Given the description of an element on the screen output the (x, y) to click on. 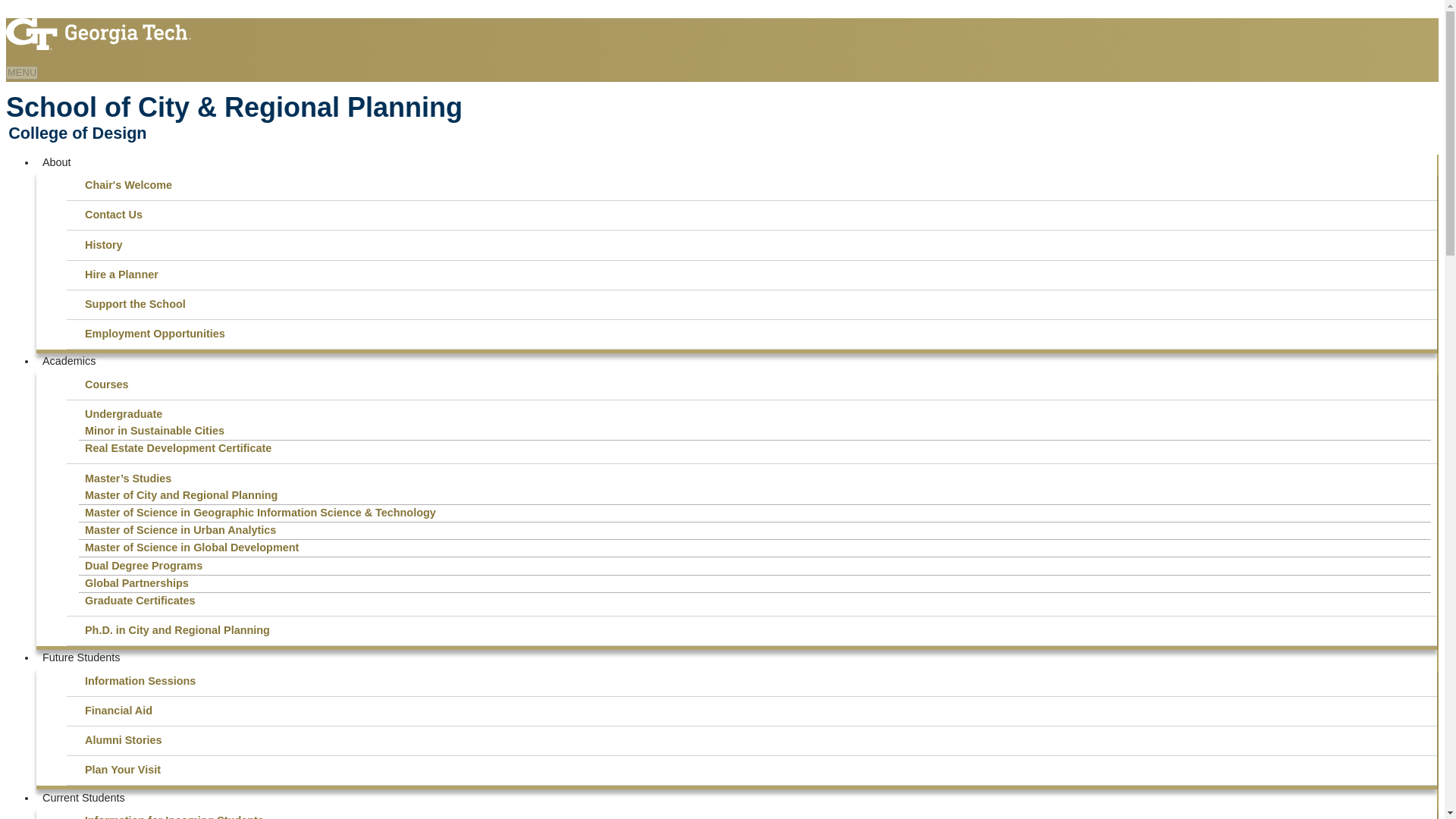
Courses (754, 384)
History (754, 244)
Contact Us (754, 215)
Alumni Stories (754, 740)
Chair's Welcome (754, 185)
Master of City and Regional Planning (754, 495)
Plan Your Visit (754, 770)
Graduate Certificates (754, 600)
Real Estate Development Certificate (754, 448)
Ph.D. in City and Regional Planning (754, 630)
Information Sessions (754, 681)
Georgia Institute of Technology (97, 27)
Hire a Planner (754, 274)
